Given the description of an element on the screen output the (x, y) to click on. 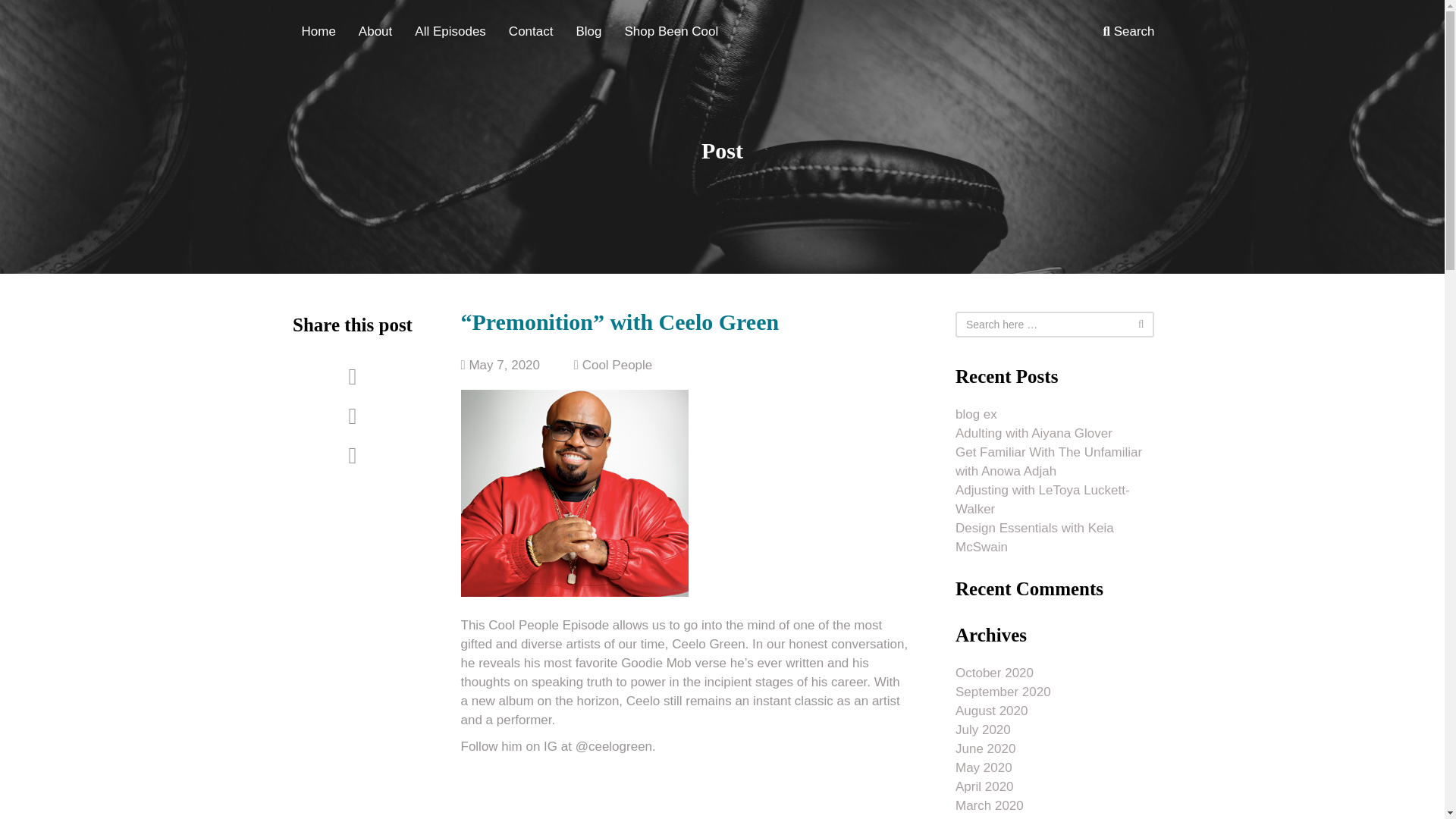
Home (317, 39)
Blog (588, 39)
August 2020 (991, 710)
About (375, 39)
All Episodes (450, 39)
Adjusting with LeToya Luckett-Walker (1042, 498)
Blog (588, 39)
Cool People (617, 364)
April 2020 (984, 786)
July 2018 (982, 818)
October 2020 (994, 672)
September 2020 (1003, 690)
Contact (530, 39)
Contact (530, 39)
March 2020 (989, 804)
